Given the description of an element on the screen output the (x, y) to click on. 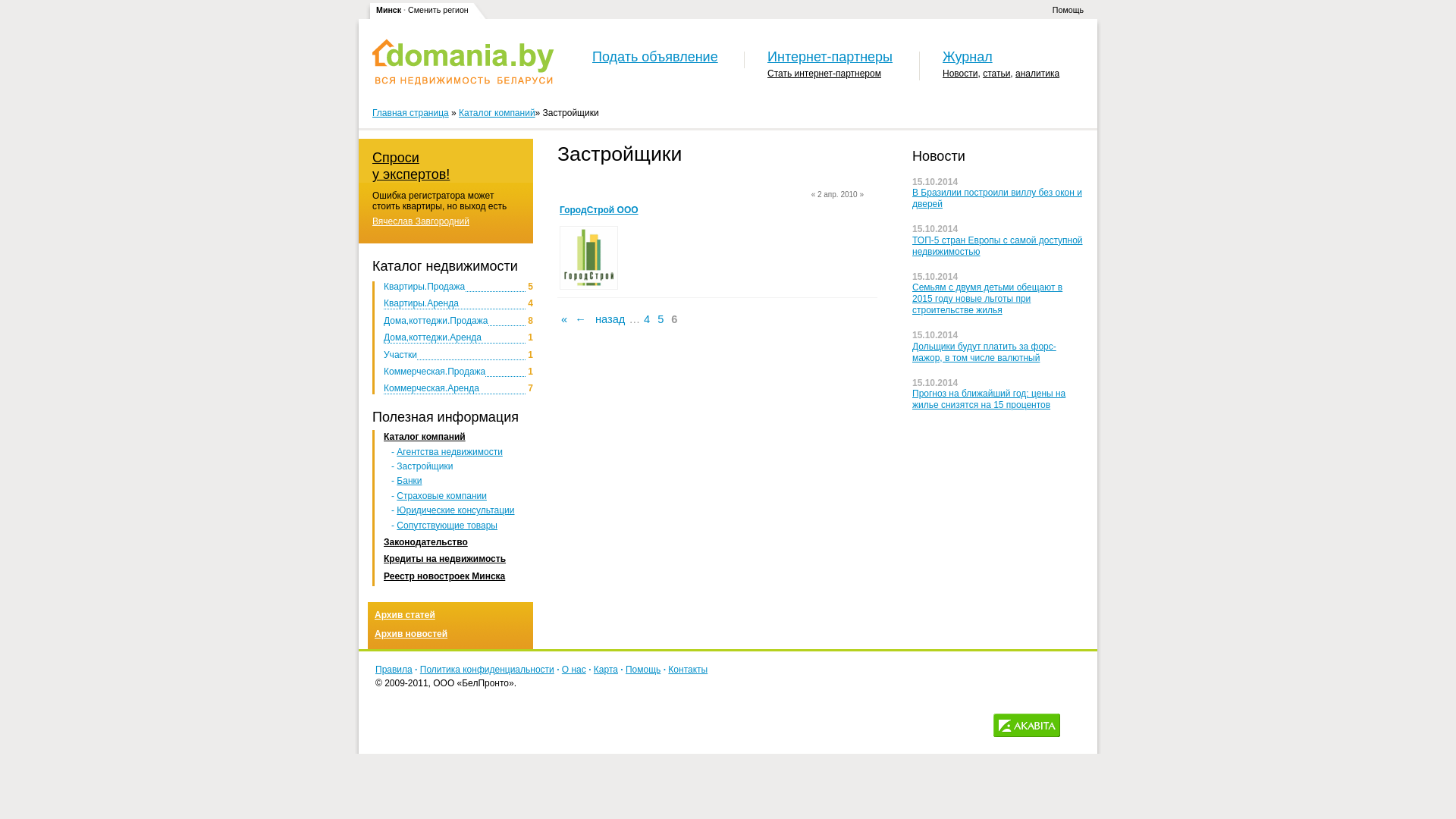
4 Element type: text (646, 318)
www.domania.by Element type: hover (463, 61)
LiveInternet Element type: hover (1075, 725)
5 Element type: text (660, 318)
